Given the description of an element on the screen output the (x, y) to click on. 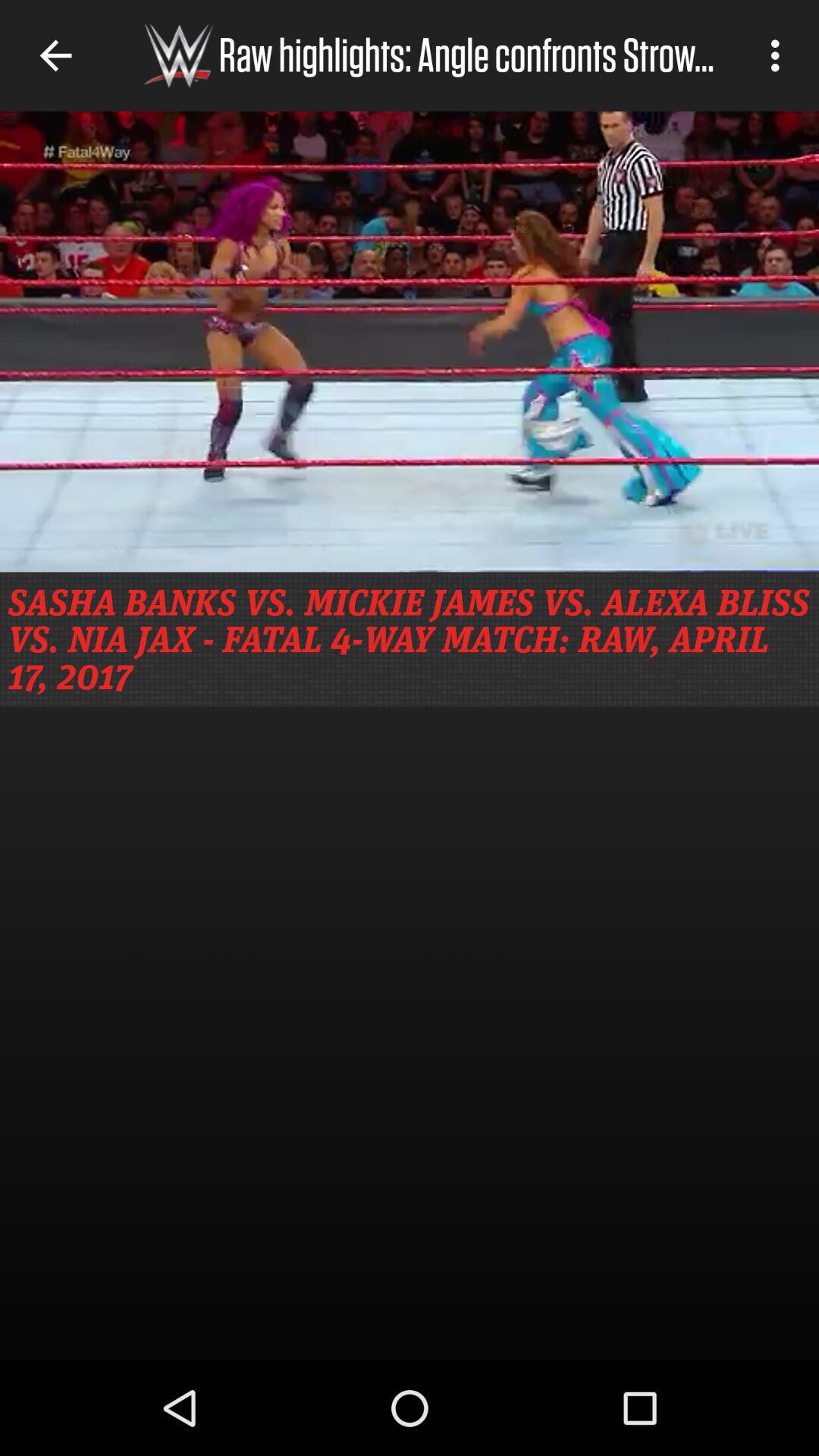
show a video (409, 341)
